Given the description of an element on the screen output the (x, y) to click on. 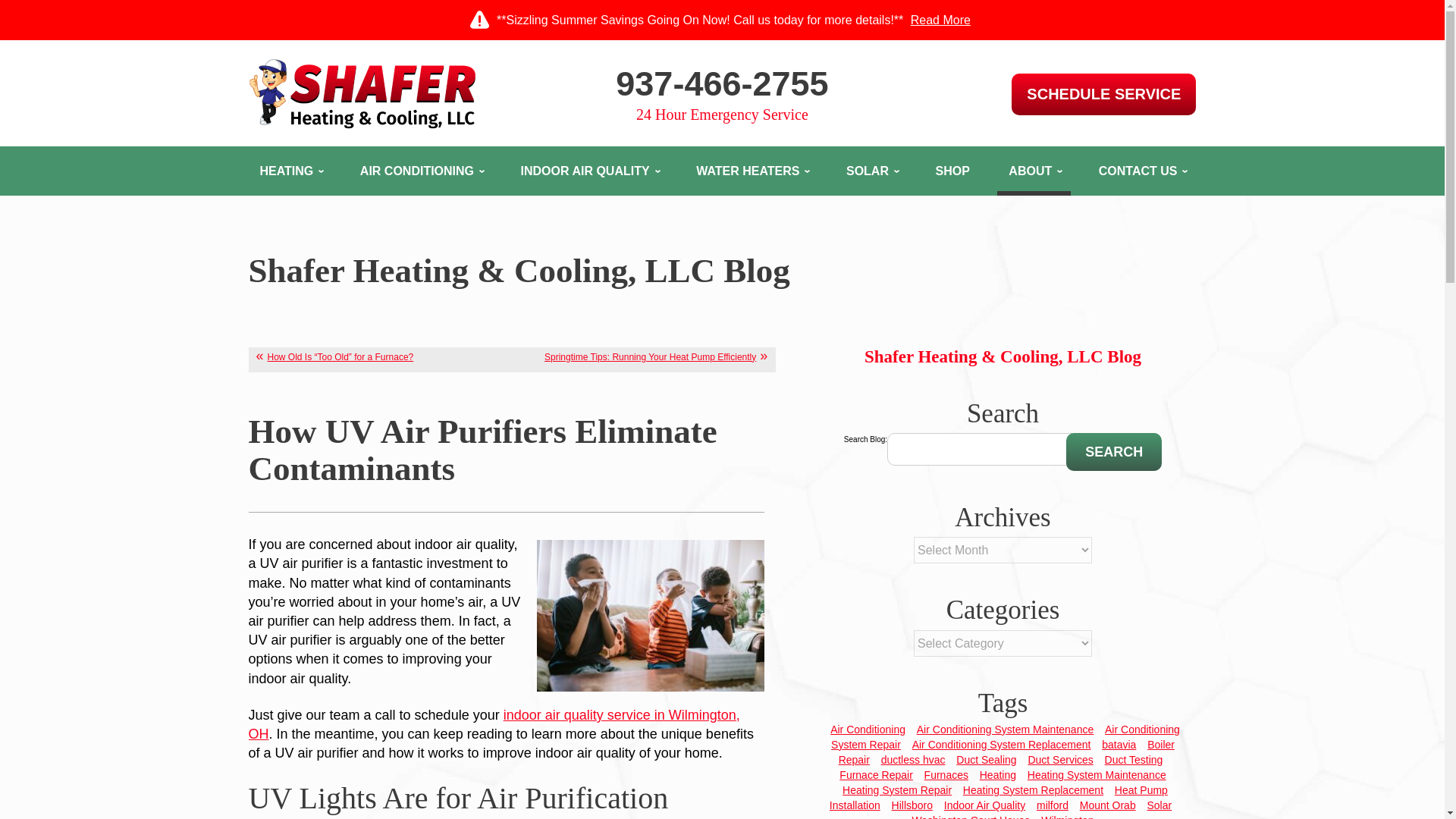
INDOOR AIR QUALITY (588, 170)
Read More (940, 19)
937-466-2755 (721, 83)
SCHEDULE SERVICE (1103, 93)
AIR CONDITIONING (421, 170)
HEATING (290, 170)
